Given the description of an element on the screen output the (x, y) to click on. 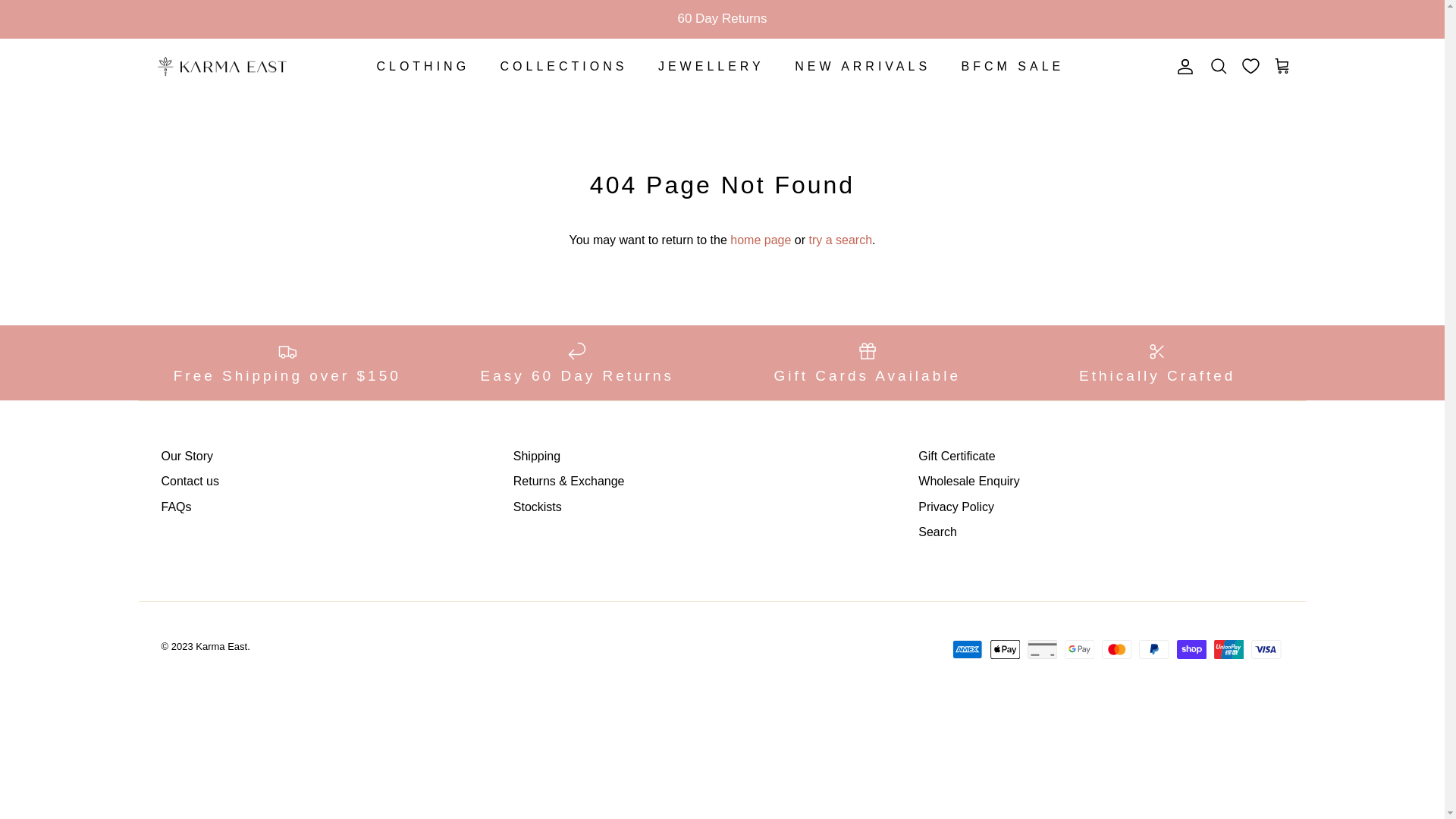
Search Element type: text (937, 531)
home page Element type: text (760, 239)
Shipping Element type: text (536, 455)
Search Element type: text (1218, 66)
Privacy Policy Element type: text (956, 506)
Gift Cards Available Element type: text (867, 362)
Cart Element type: text (1282, 66)
Karma East Element type: text (221, 646)
COLLECTIONS Element type: text (563, 66)
Returns & Exchange Element type: text (568, 480)
NEW ARRIVALS Element type: text (862, 66)
Account Element type: text (1182, 66)
Gift Certificate Element type: text (956, 455)
CLOTHING Element type: text (422, 66)
Stockists Element type: text (537, 506)
JEWELLERY Element type: text (711, 66)
Our Story Element type: text (186, 455)
FAQs Element type: text (175, 506)
Easy 60 Day Returns Element type: text (577, 362)
Ethically Crafted Element type: text (1157, 362)
BFCM SALE Element type: text (1012, 66)
try a search Element type: text (840, 239)
Wholesale Enquiry Element type: text (968, 480)
Free Shipping over $150 Element type: text (286, 362)
Contact us Element type: text (189, 480)
Karma East Element type: hover (221, 66)
